Given the description of an element on the screen output the (x, y) to click on. 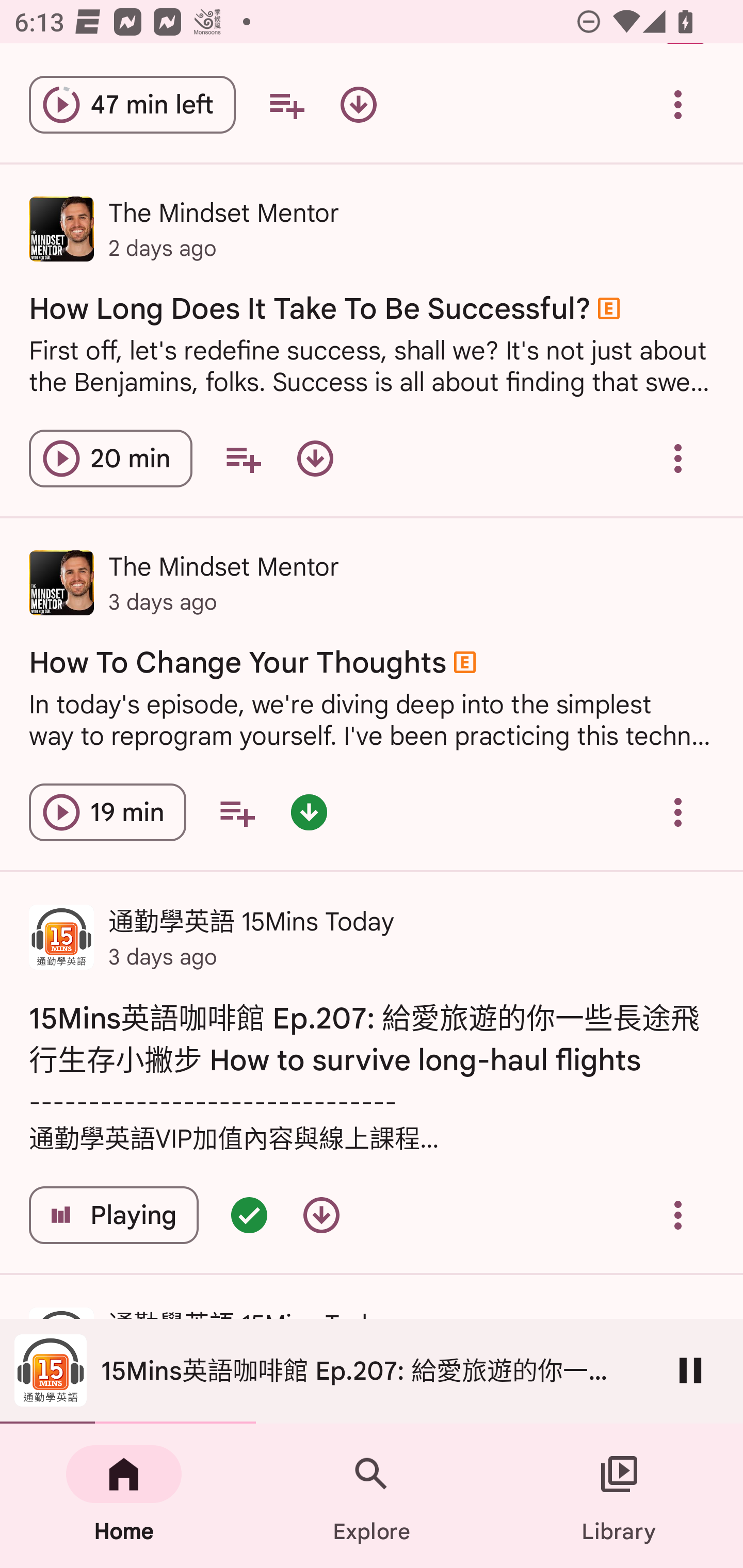
Play episode Meet My Wife 47 min left (131, 104)
Add to your queue (286, 104)
Download episode (358, 104)
Overflow menu (677, 104)
Add to your queue (242, 458)
Download episode (315, 458)
Overflow menu (677, 458)
Play episode How To Change Your Thoughts 19 min (107, 812)
Add to your queue (236, 812)
Episode downloaded - double tap for options 0.0 (308, 812)
Overflow menu (677, 812)
Episode queued - double tap for options (249, 1215)
Download episode (321, 1215)
Overflow menu (677, 1215)
Pause (690, 1370)
Explore (371, 1495)
Library (619, 1495)
